Given the description of an element on the screen output the (x, y) to click on. 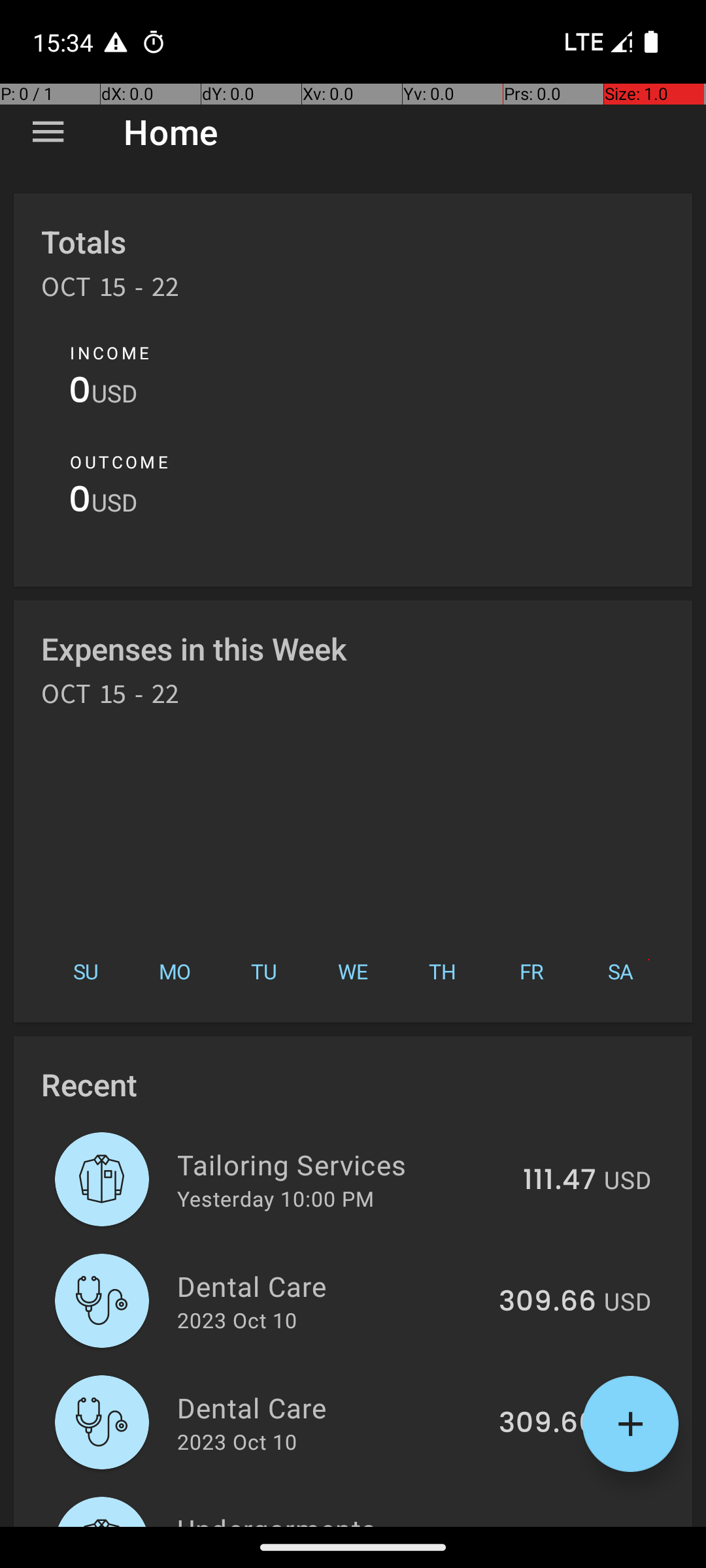
Tailoring Services Element type: android.widget.TextView (342, 1164)
Yesterday 10:00 PM Element type: android.widget.TextView (275, 1198)
111.47 Element type: android.widget.TextView (559, 1180)
Dental Care Element type: android.widget.TextView (330, 1285)
309.66 Element type: android.widget.TextView (547, 1301)
Undergarments Element type: android.widget.TextView (335, 1518)
174.52 Element type: android.widget.TextView (552, 1524)
